Given the description of an element on the screen output the (x, y) to click on. 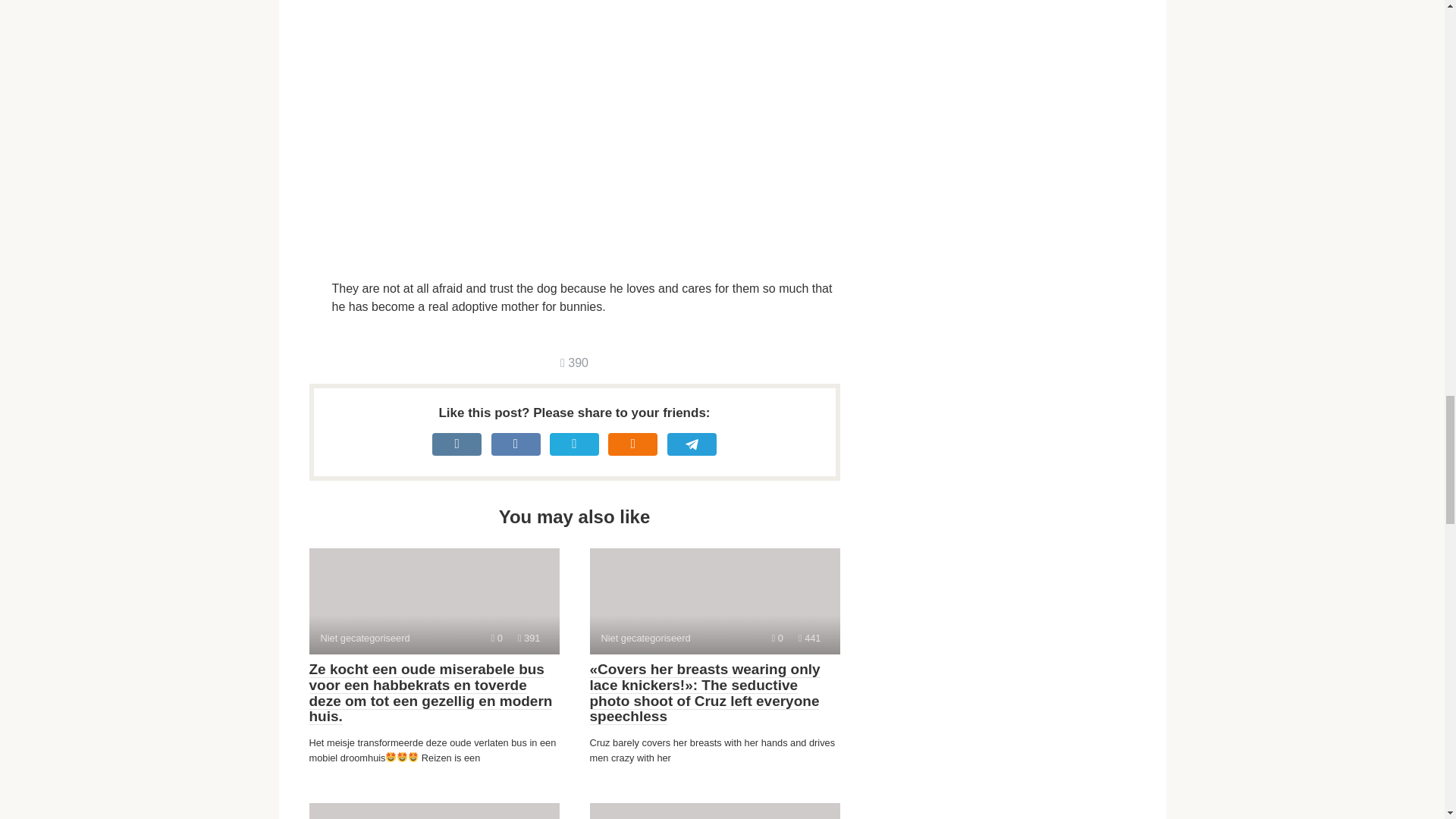
Views (574, 362)
Views (529, 637)
Views (809, 637)
Comments (714, 811)
Comments (433, 600)
